Given the description of an element on the screen output the (x, y) to click on. 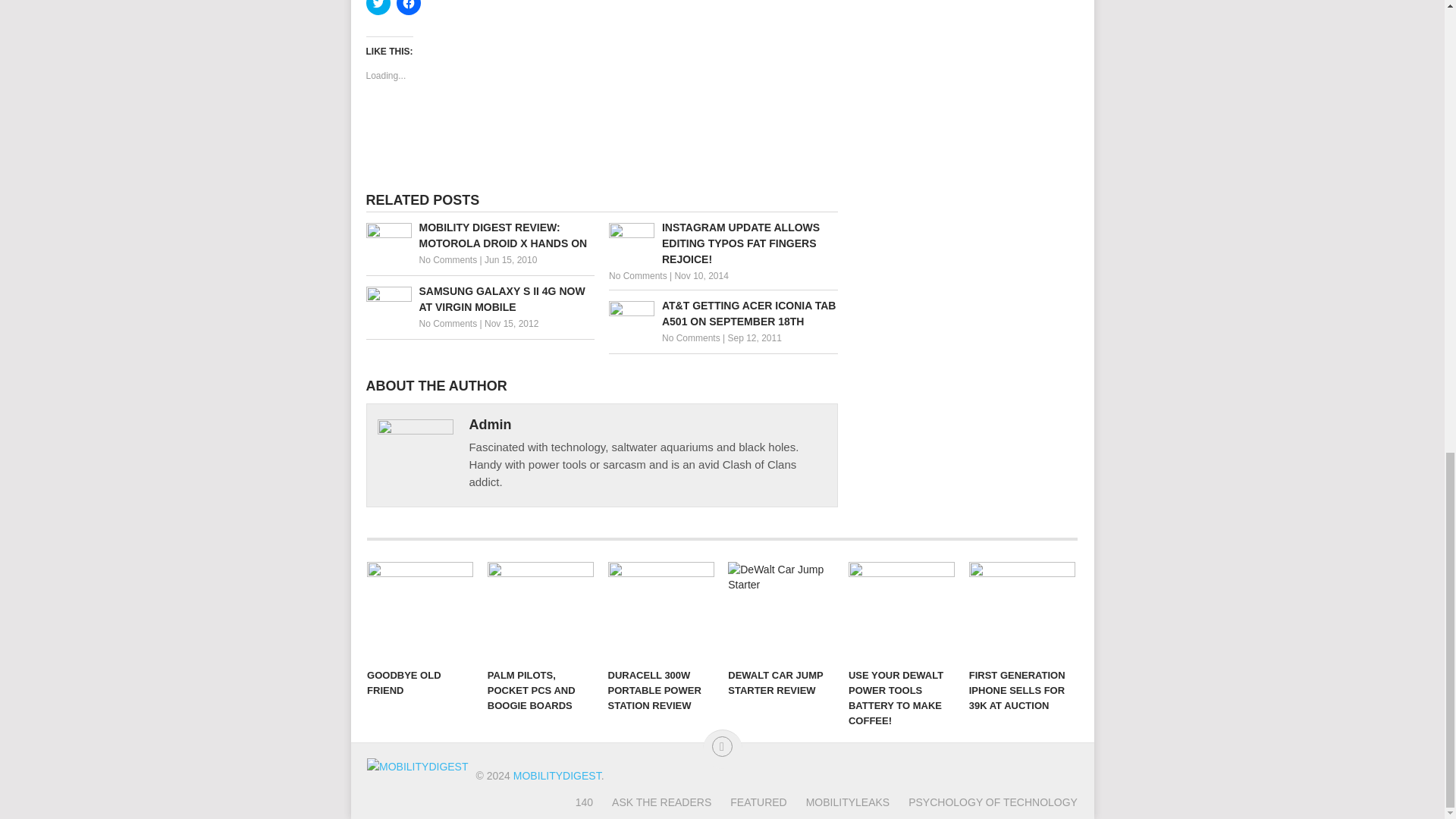
No Comments (691, 337)
PALM PILOTS, POCKET PCS AND BOOGIE BOARDS (540, 610)
Samsung Galaxy S II 4G Now at Virgin Mobile (479, 299)
Click to share on Twitter (377, 7)
INSTAGRAM UPDATE ALLOWS EDITING TYPOS FAT FINGERS REJOICE! (723, 243)
MOBILITY DIGEST REVIEW: MOTOROLA DROID X HANDS ON (479, 235)
No Comments (448, 259)
USE YOUR DEWALT POWER TOOLS BATTERY TO MAKE COFFEE! (901, 610)
DEWALT CAR JUMP STARTER REVIEW (781, 610)
GOODBYE OLD FRIEND (419, 610)
